Given the description of an element on the screen output the (x, y) to click on. 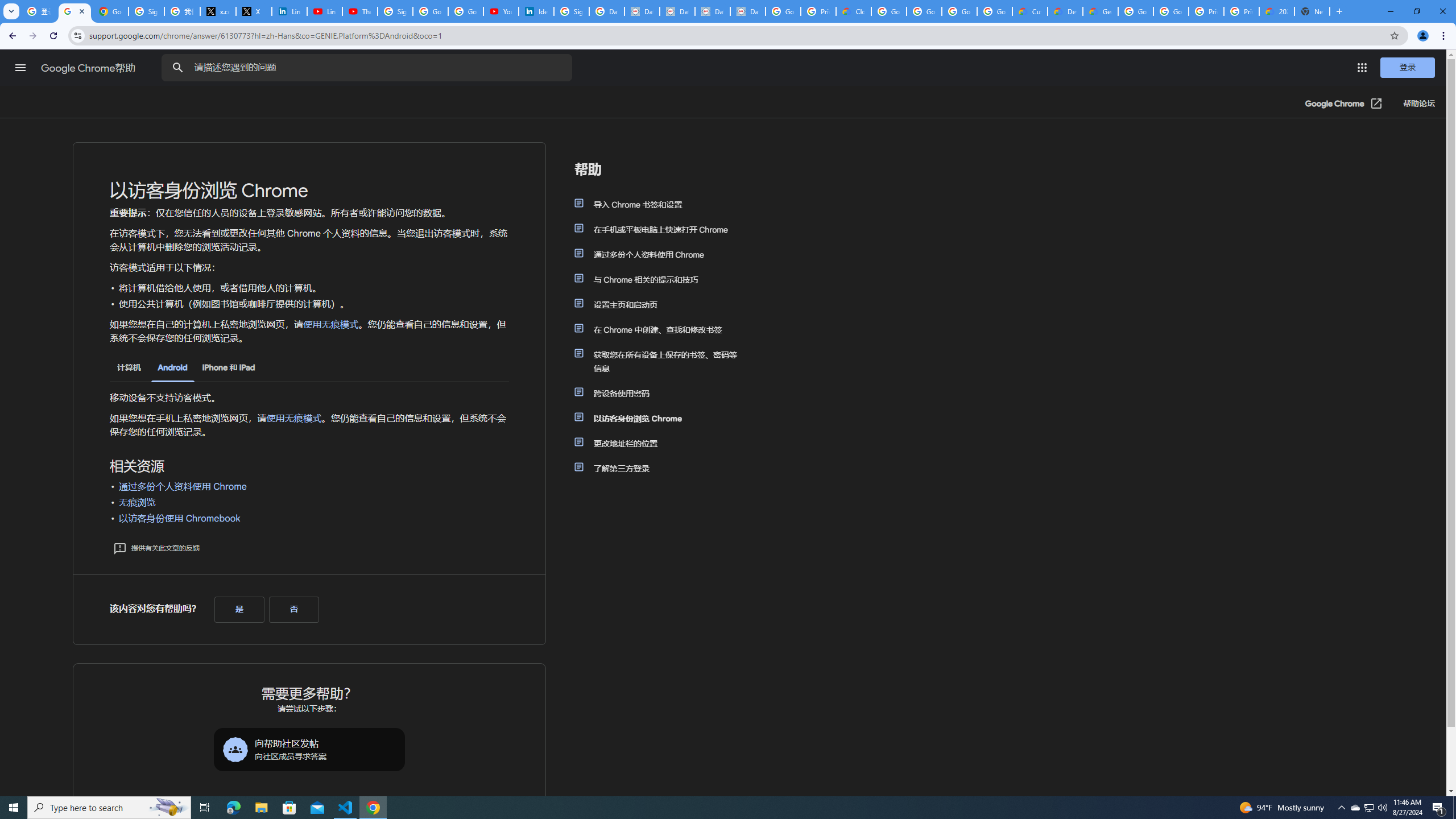
Data Privacy Framework (712, 11)
Google Workspace - Specific Terms (994, 11)
Cloud Data Processing Addendum | Google Cloud (853, 11)
